Given the description of an element on the screen output the (x, y) to click on. 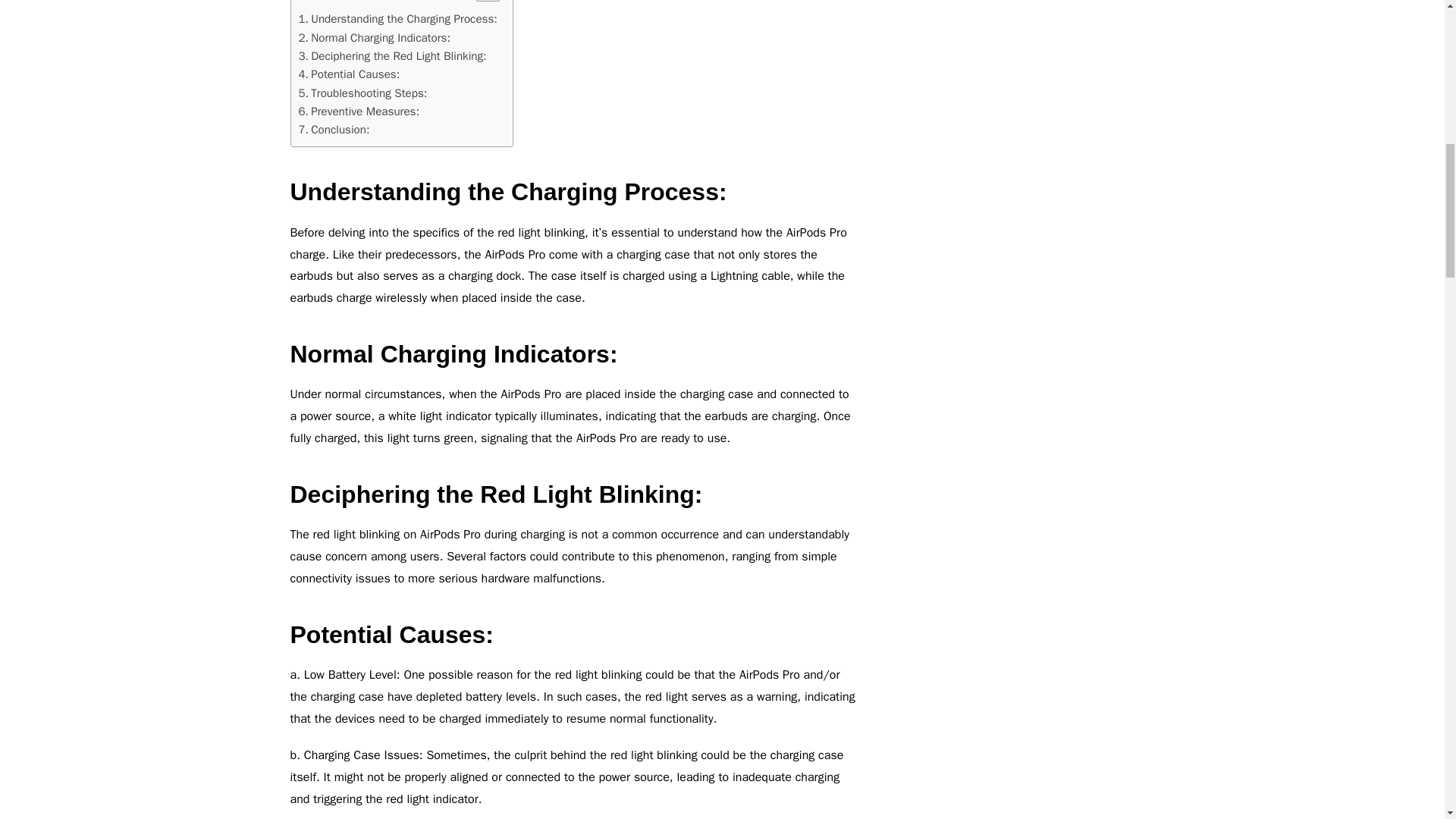
Potential Causes: (349, 74)
Conclusion: (333, 129)
Preventive Measures: (359, 111)
Troubleshooting Steps: (363, 93)
Preventive Measures: (359, 111)
Conclusion: (333, 129)
Potential Causes: (349, 74)
Normal Charging Indicators: (374, 37)
Normal Charging Indicators: (374, 37)
Deciphering the Red Light Blinking: (392, 55)
Troubleshooting Steps: (363, 93)
Understanding the Charging Process: (397, 18)
Understanding the Charging Process: (397, 18)
Deciphering the Red Light Blinking: (392, 55)
